Given the description of an element on the screen output the (x, y) to click on. 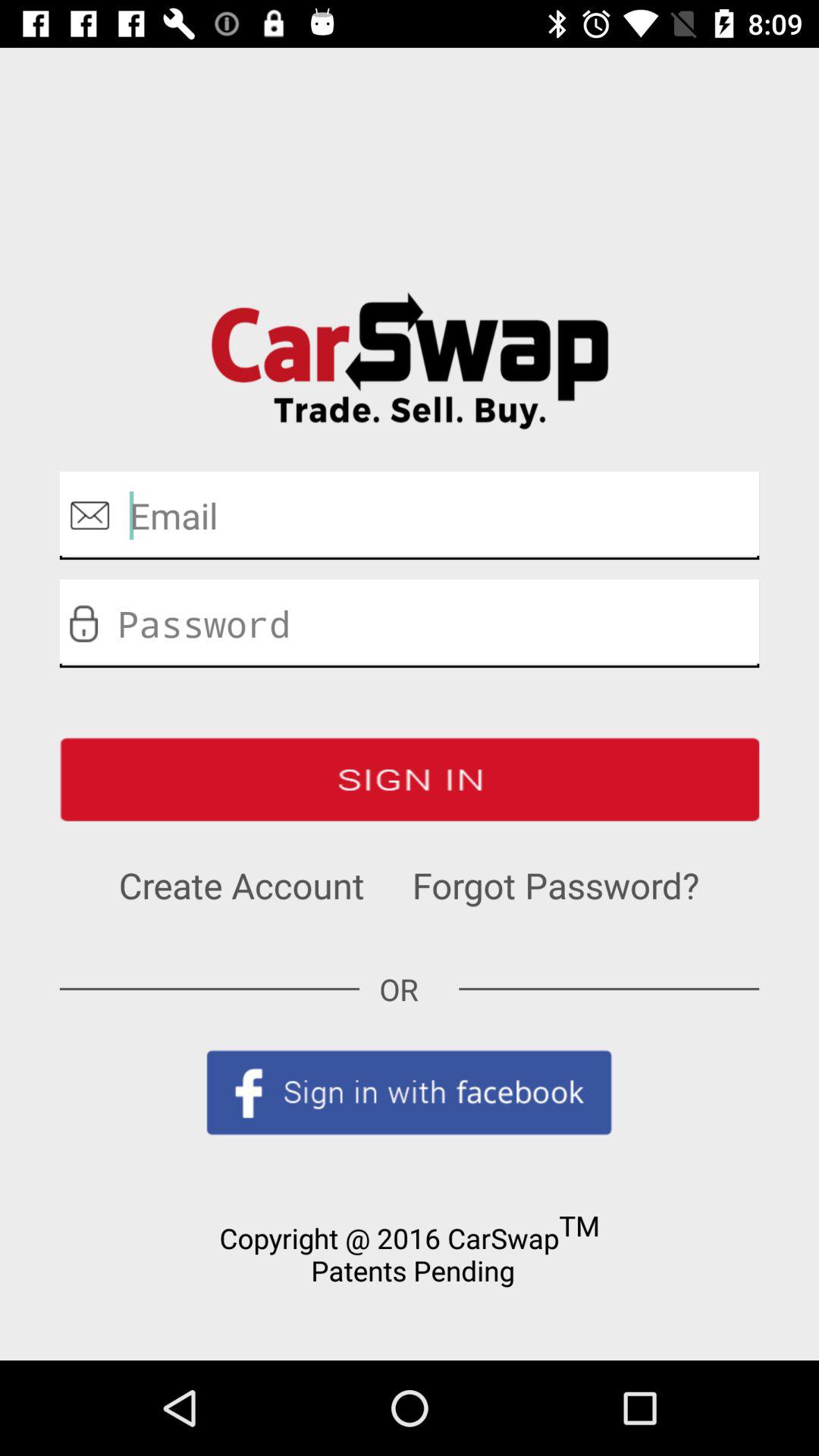
opens a field to type a password (409, 623)
